Given the description of an element on the screen output the (x, y) to click on. 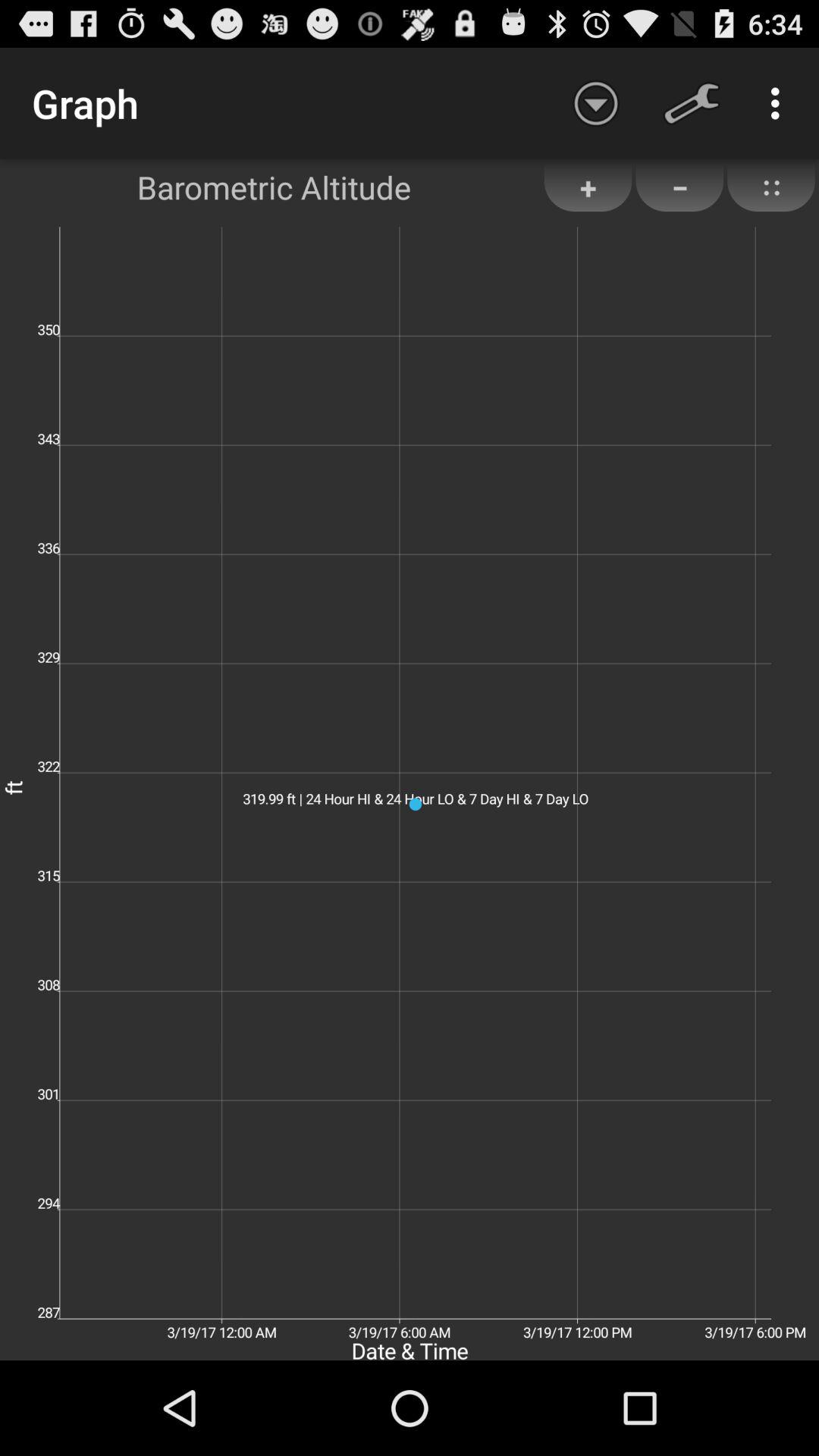
choose the icon to the right of barometric altitude item (595, 103)
